Given the description of an element on the screen output the (x, y) to click on. 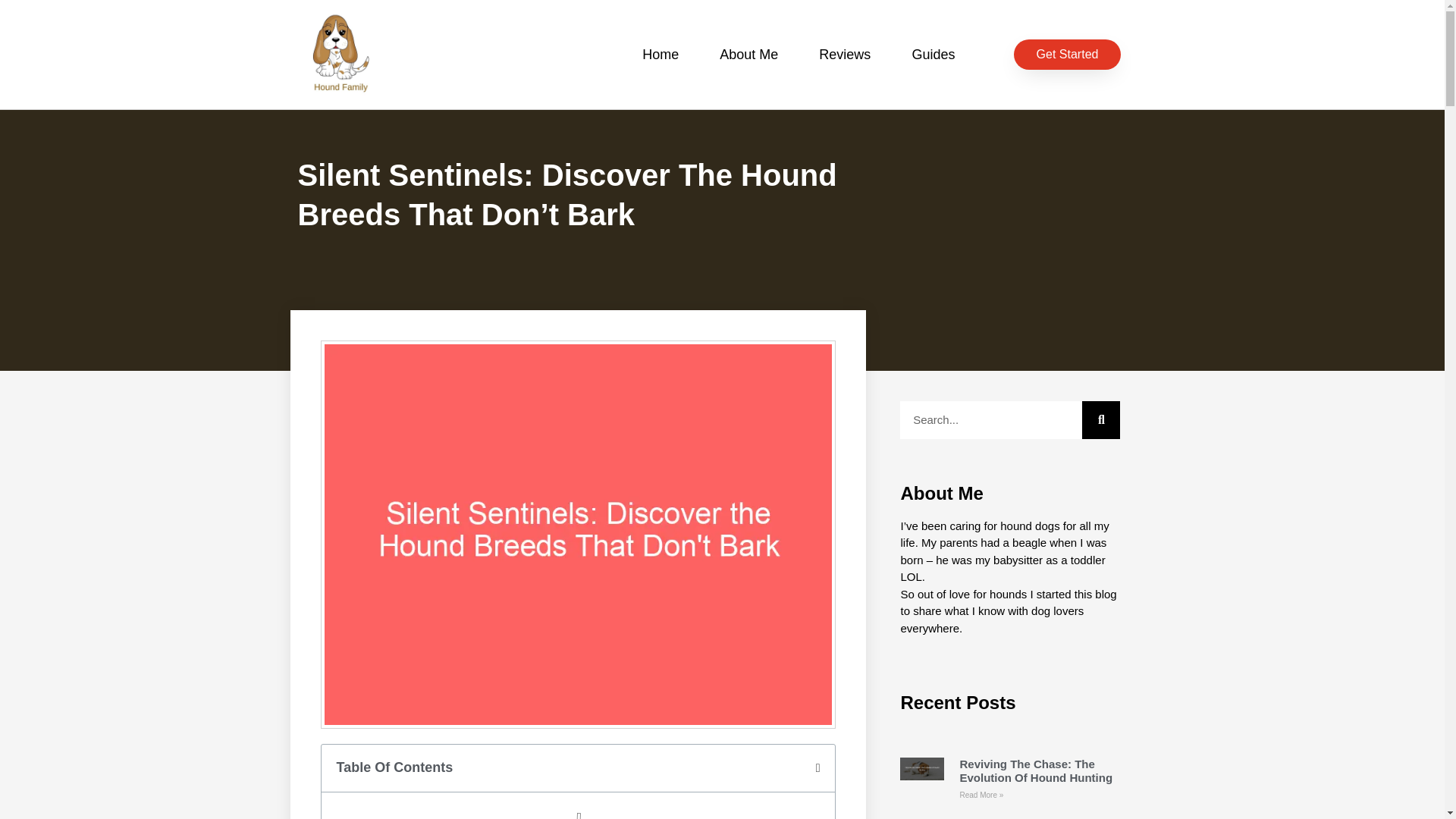
Guides (933, 54)
Search (1100, 419)
Search (990, 419)
Reviews (844, 54)
Get Started (1067, 54)
Reviving The Chase: The Evolution Of Hound Hunting (1035, 770)
About Me (747, 54)
Home (659, 54)
